Given the description of an element on the screen output the (x, y) to click on. 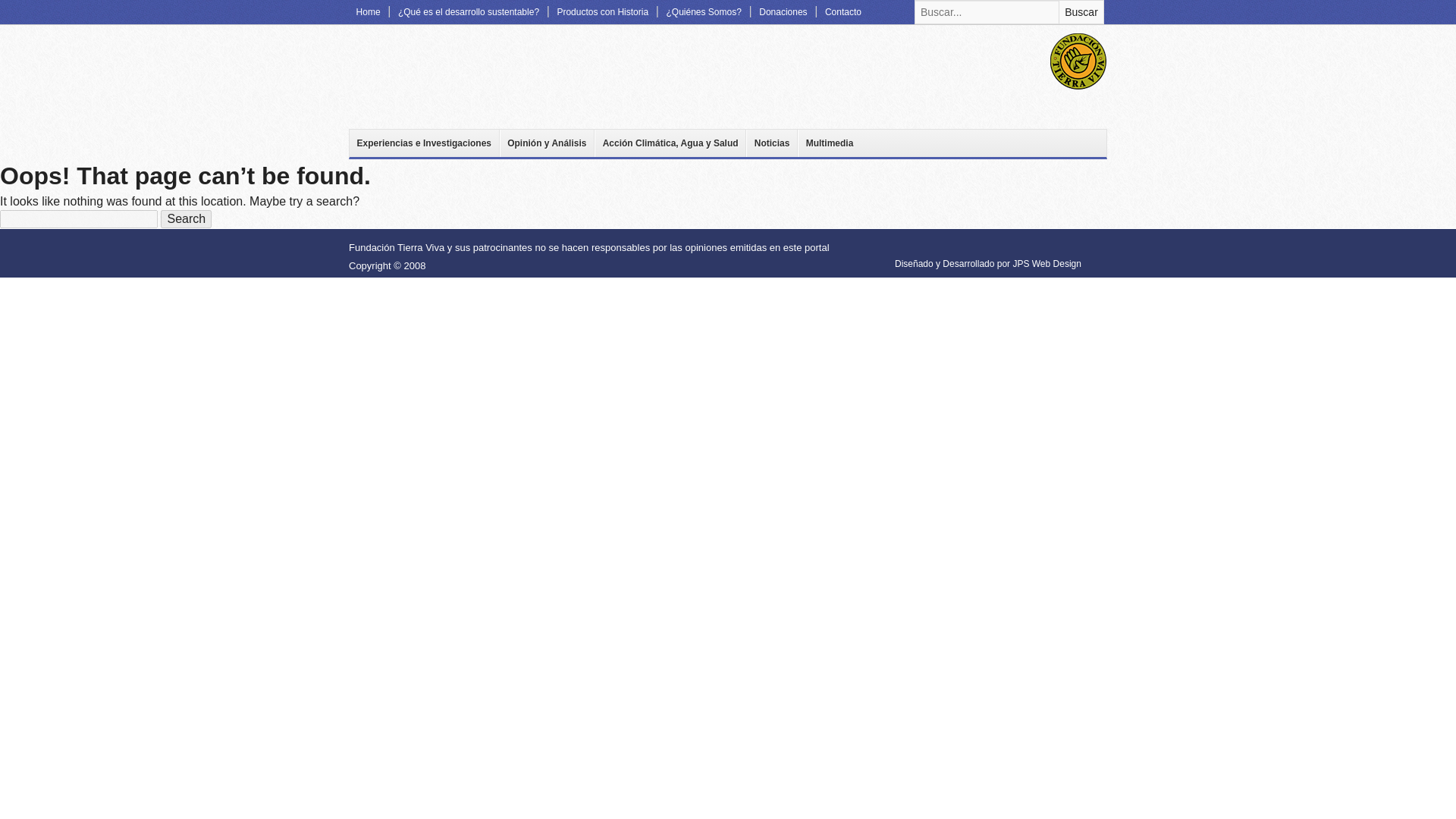
Buscar (1081, 12)
Multimedia (828, 143)
Home (368, 11)
Search (185, 218)
Productos con Historia (603, 11)
JPS Web Design (1046, 263)
Buscar (1081, 12)
Desarrollo Sustentable (442, 76)
Contacto (841, 11)
Experiencias e Investigaciones (424, 143)
